Given the description of an element on the screen output the (x, y) to click on. 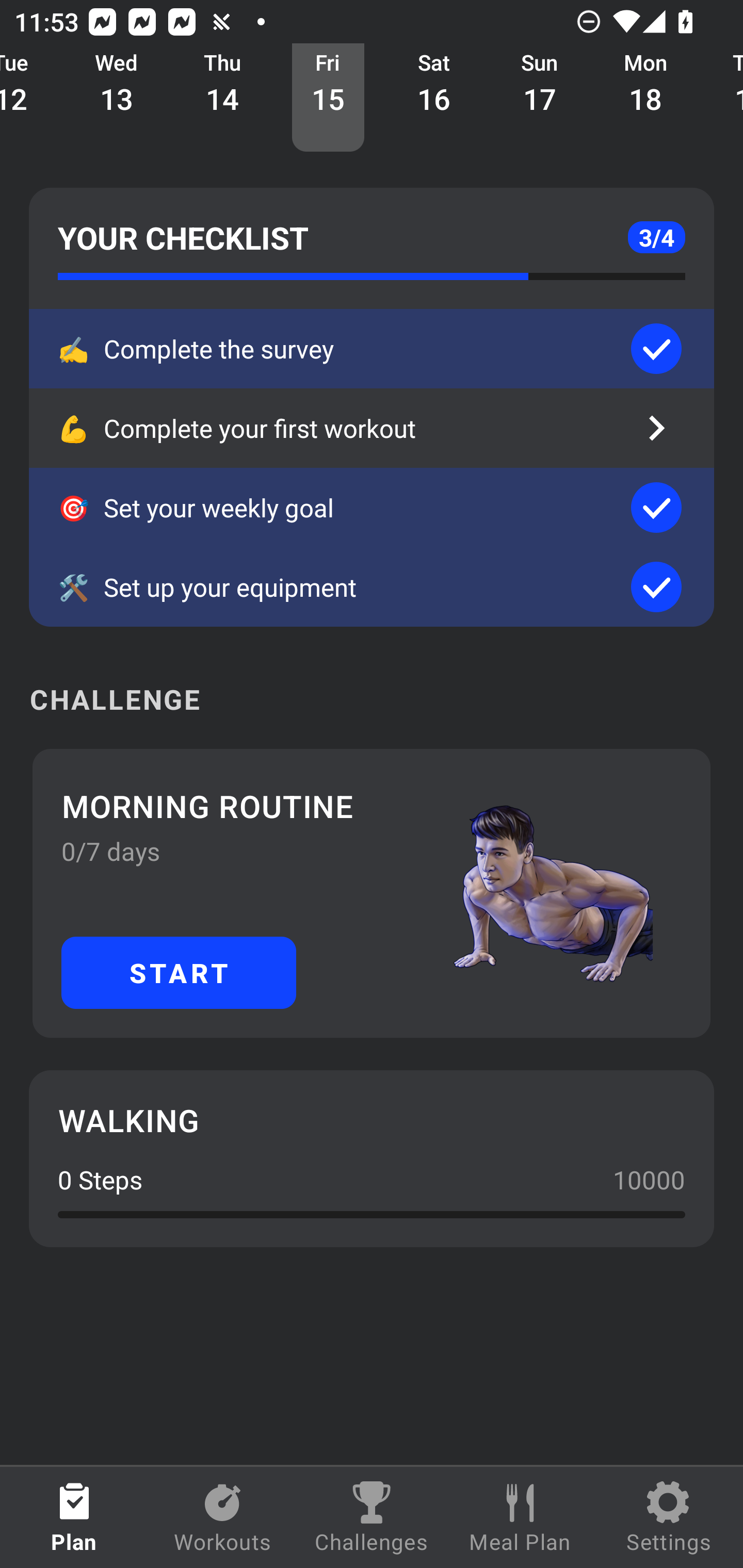
Wed 13 (116, 97)
Thu 14 (222, 97)
Fri 15 (328, 97)
Sat 16 (434, 97)
Sun 17 (539, 97)
Mon 18 (645, 97)
💪 Complete your first workout (371, 427)
MORNING ROUTINE 0/7 days START (371, 892)
START (178, 972)
WALKING 0 Steps 10000 0.0 (371, 1158)
 Workouts  (222, 1517)
 Challenges  (371, 1517)
 Meal Plan  (519, 1517)
 Settings  (668, 1517)
